Given the description of an element on the screen output the (x, y) to click on. 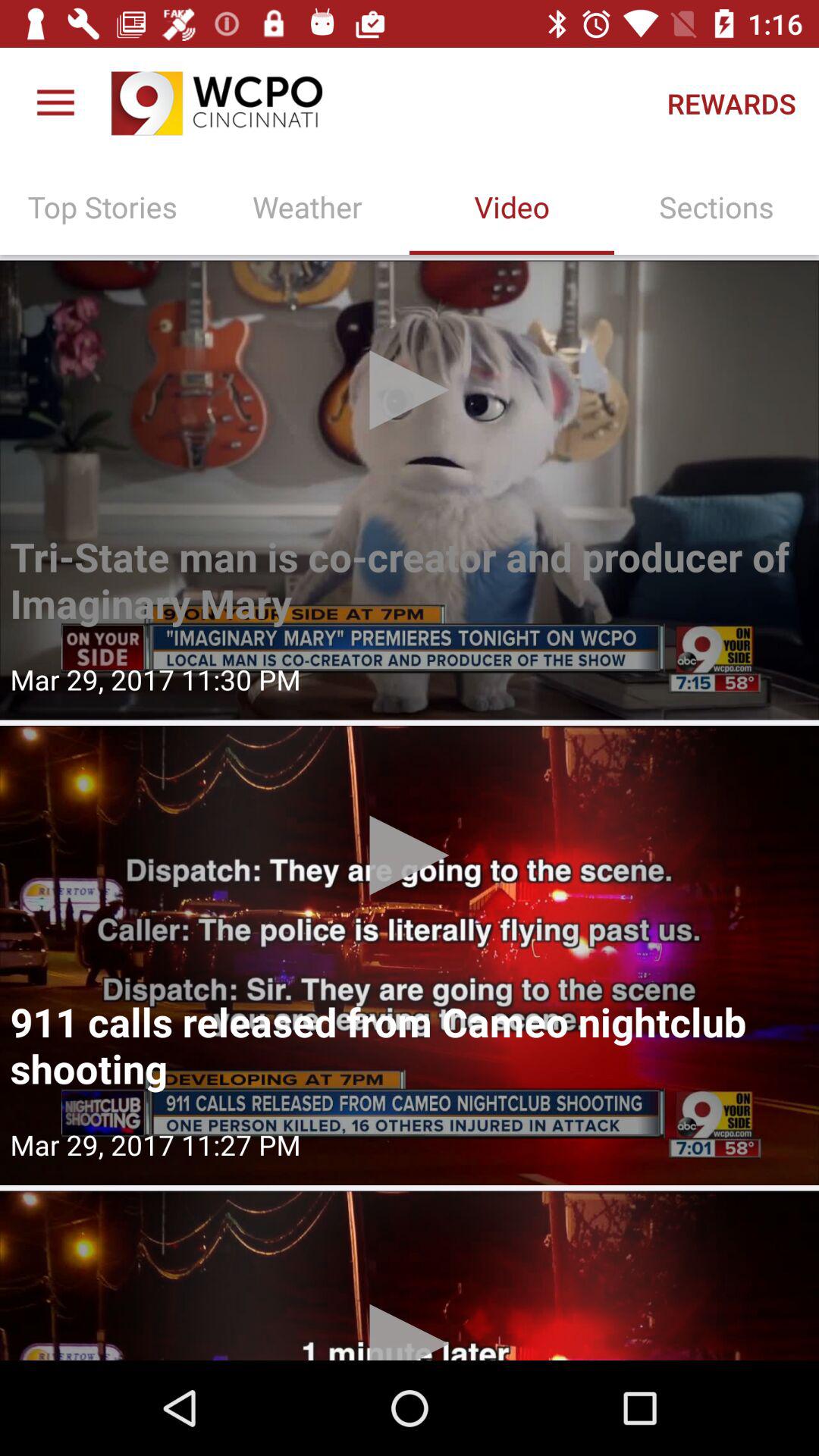
still shot news screen showing flashing with forward right option (409, 490)
